Given the description of an element on the screen output the (x, y) to click on. 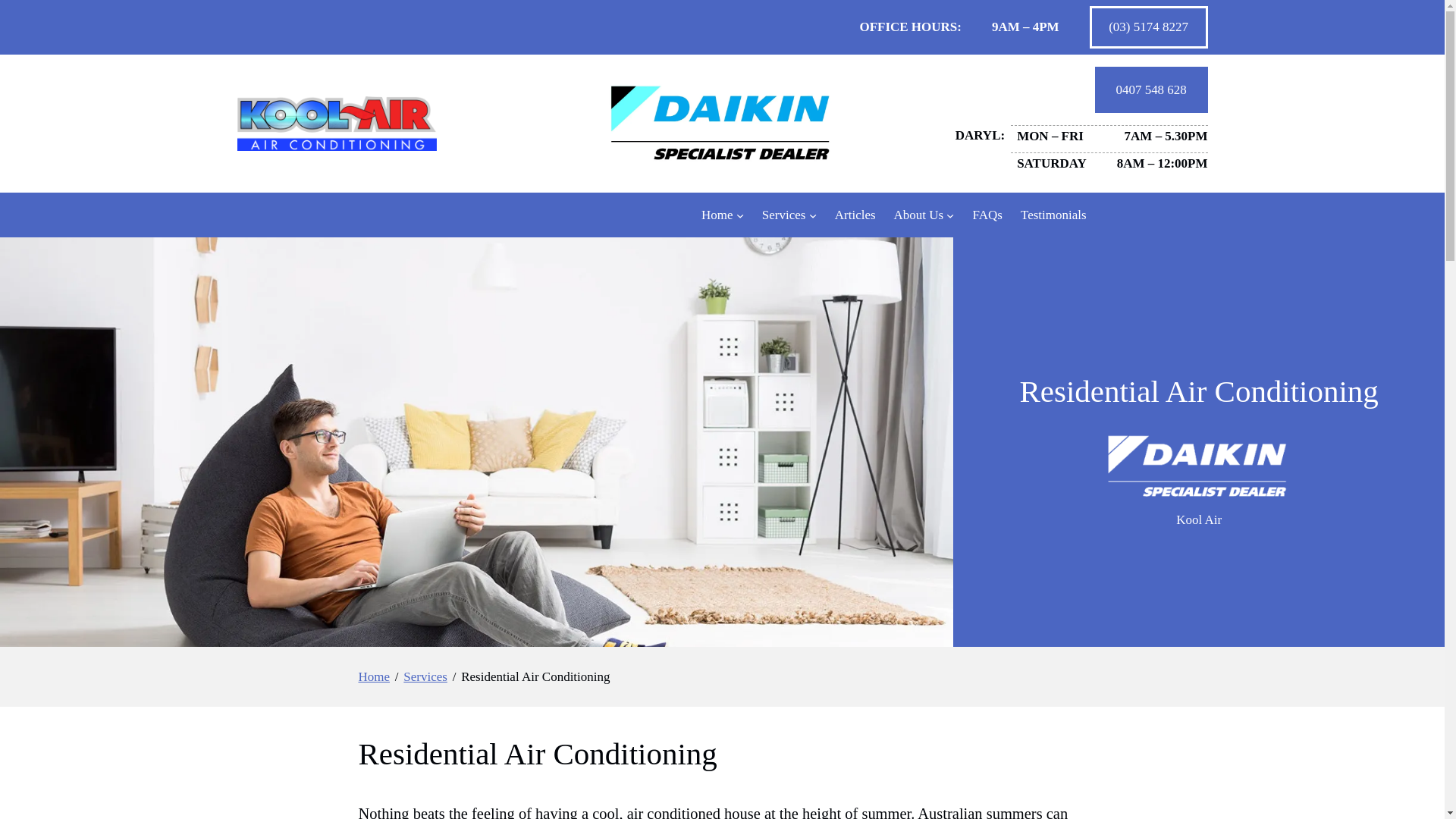
Home (717, 215)
Services (424, 676)
FAQs (987, 215)
Home (374, 676)
0407 548 628 (1151, 89)
About Us (918, 215)
Testimonials (1053, 215)
Articles (855, 215)
Kool Air (1198, 519)
Services (783, 215)
